Given the description of an element on the screen output the (x, y) to click on. 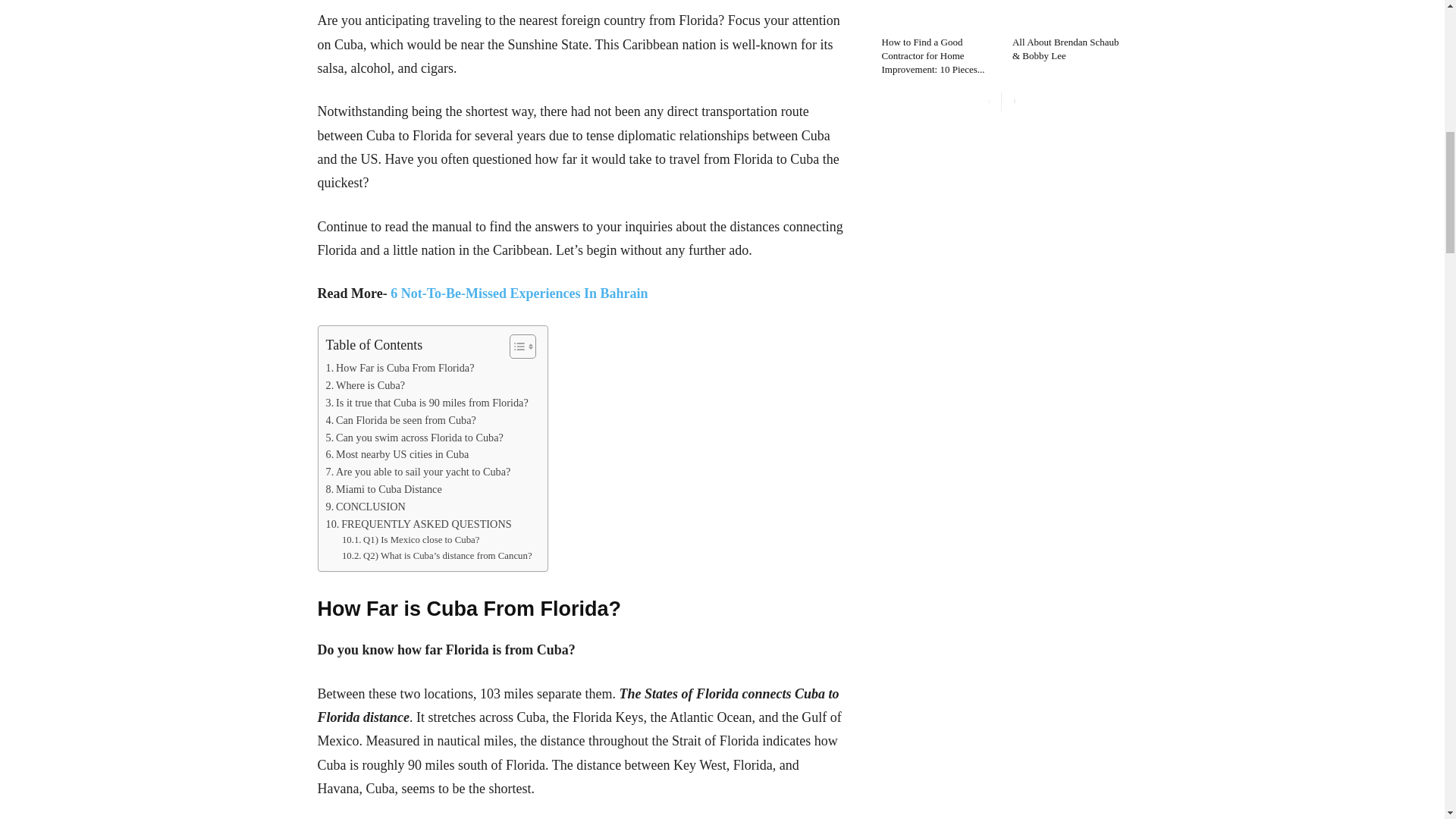
How Far is Cuba From Florida? (400, 367)
Can you swim across Florida to Cuba? (414, 437)
Where is Cuba? (366, 384)
Can Florida be seen from Cuba? (401, 420)
Most nearby US cities in Cuba (397, 454)
Is it true that Cuba is 90 miles from Florida? (427, 402)
